Given the description of an element on the screen output the (x, y) to click on. 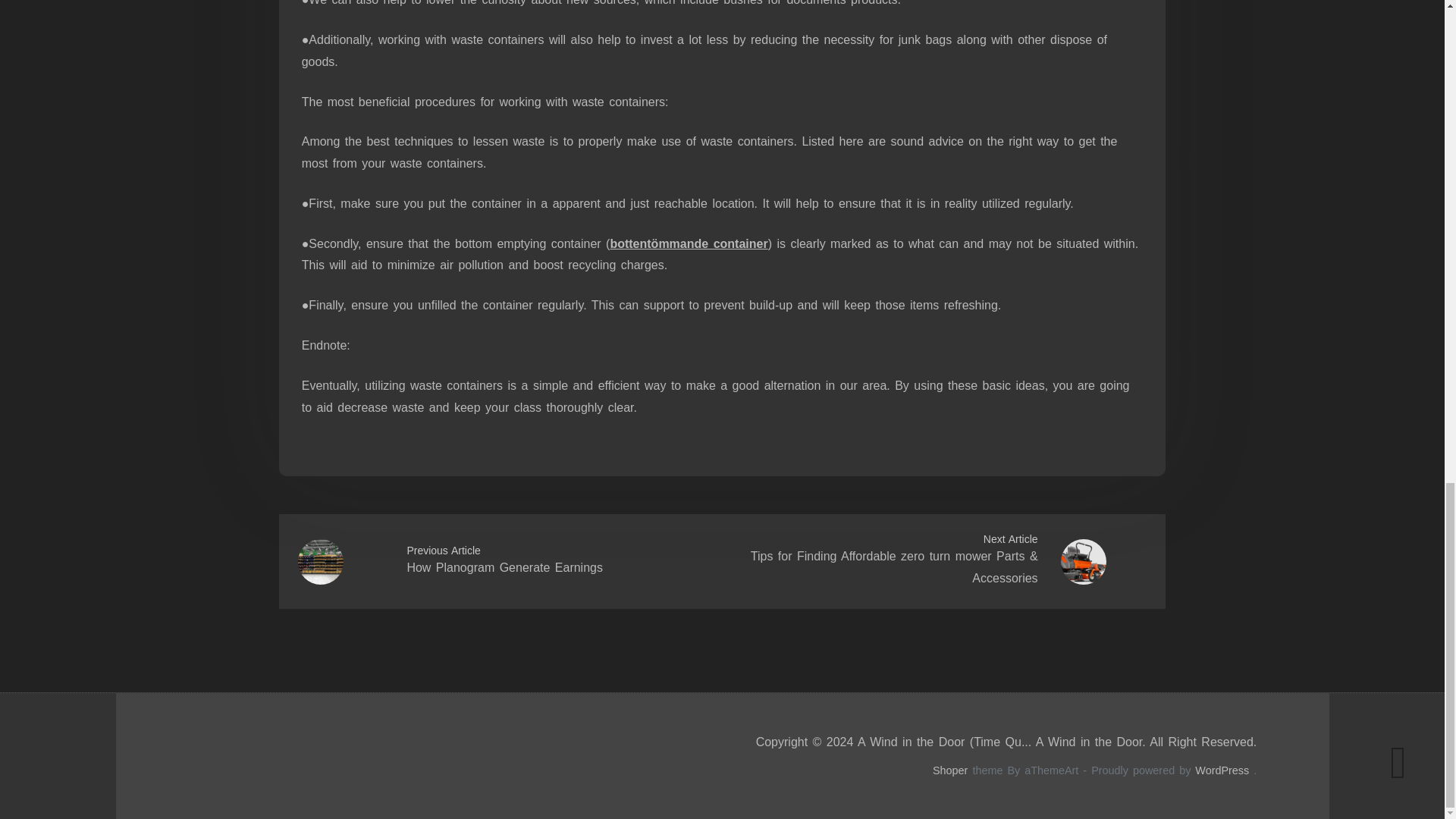
WordPress (1222, 770)
How Planogram Generate Earnings (504, 567)
Shoper (950, 770)
